Given the description of an element on the screen output the (x, y) to click on. 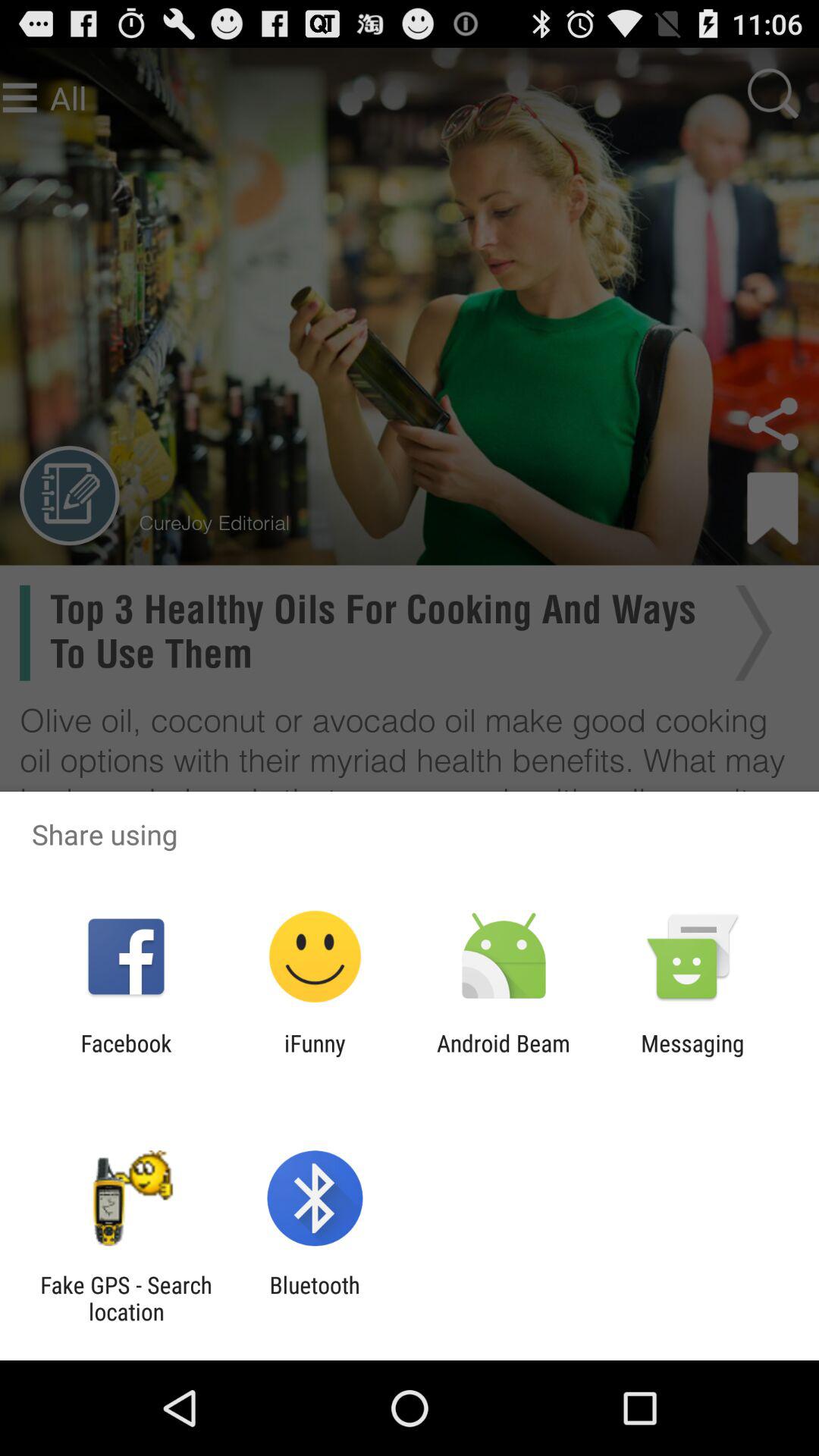
choose the app to the right of android beam (692, 1056)
